Given the description of an element on the screen output the (x, y) to click on. 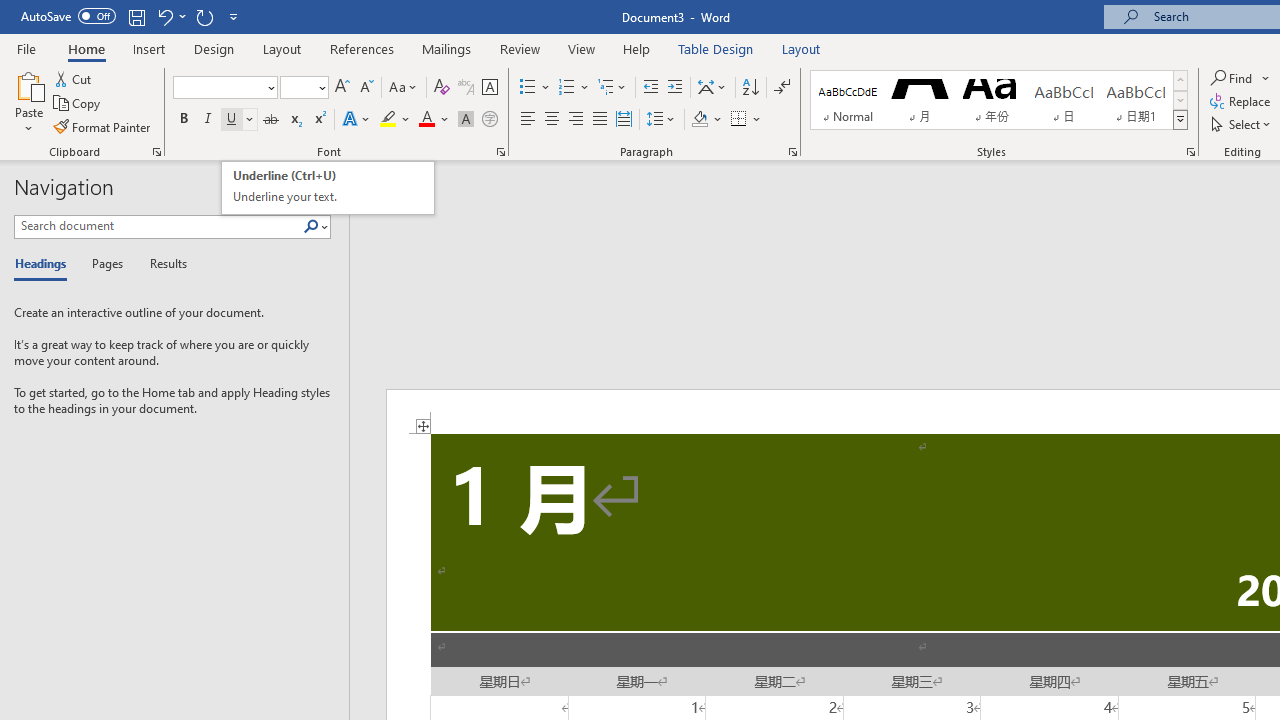
Show/Hide Editing Marks (781, 87)
Font Color (434, 119)
Clear Formatting (442, 87)
Paragraph... (792, 151)
Strikethrough (270, 119)
Line and Paragraph Spacing (661, 119)
Decrease Indent (650, 87)
Distributed (623, 119)
